Given the description of an element on the screen output the (x, y) to click on. 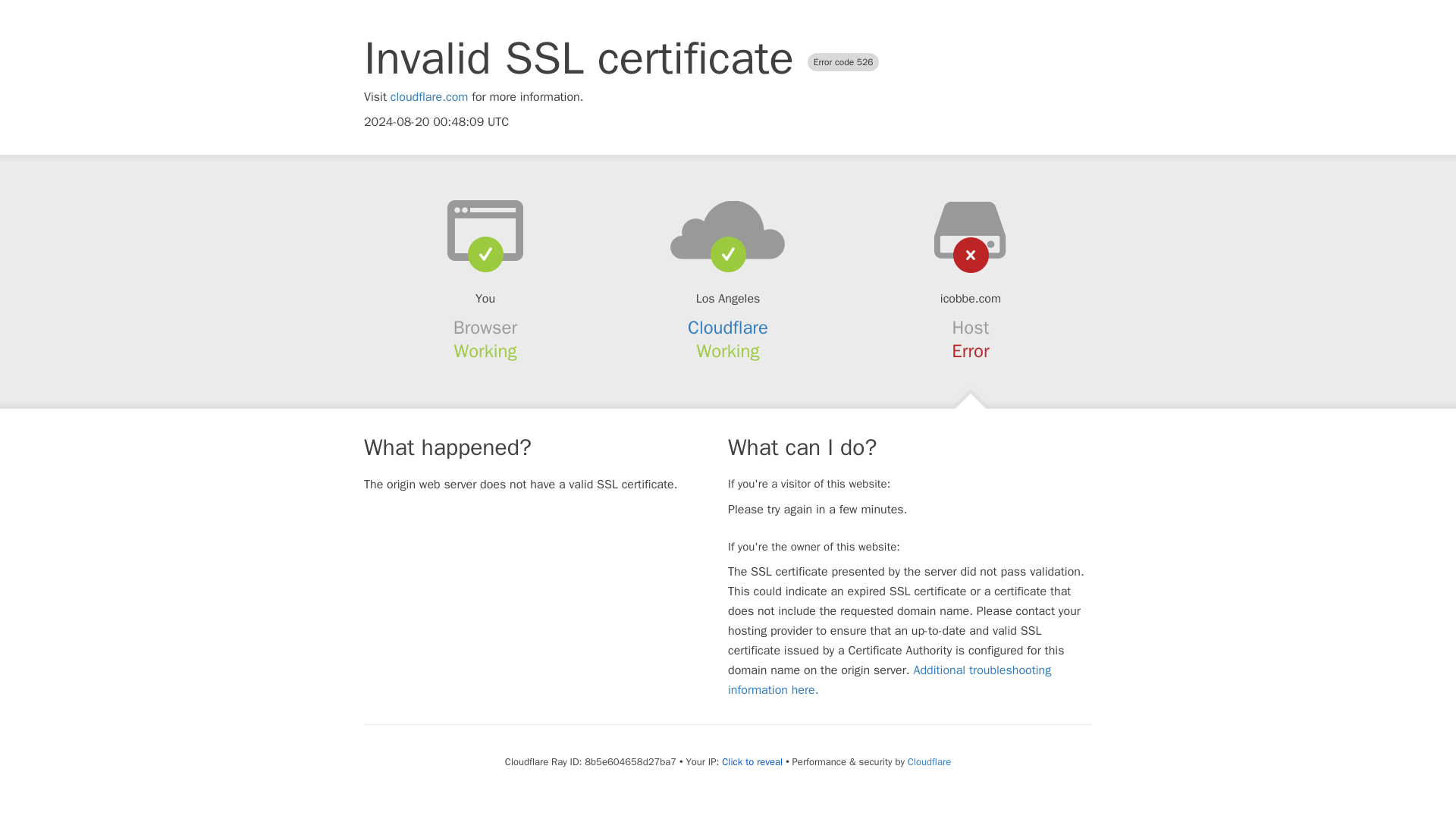
Cloudflare (928, 761)
Additional troubleshooting information here. (889, 679)
cloudflare.com (429, 96)
Cloudflare (727, 327)
Click to reveal (752, 762)
